Given the description of an element on the screen output the (x, y) to click on. 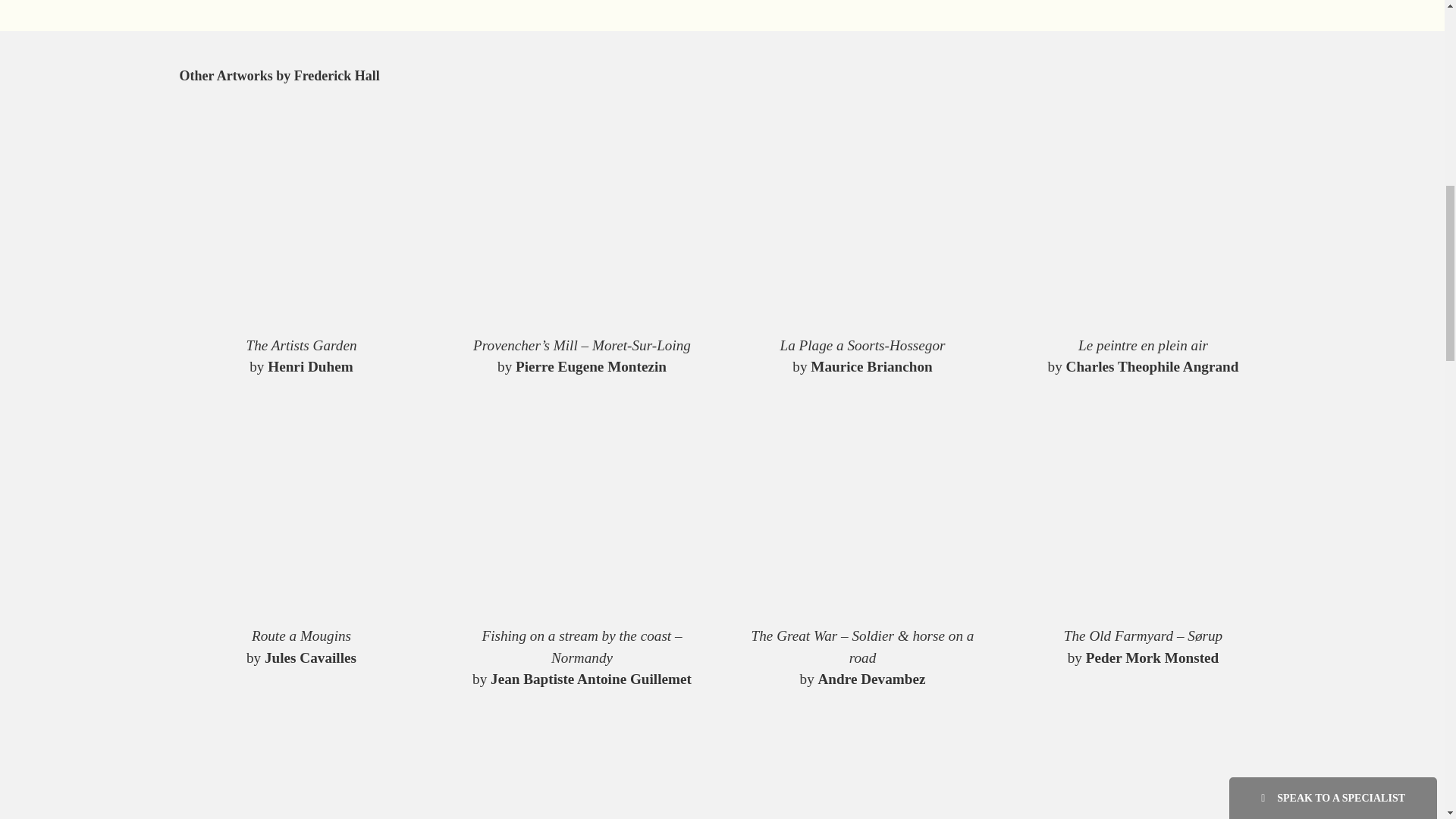
by Henri Duhem (301, 367)
The Artists Garden (301, 345)
La Plage a Soorts-Hossegor (861, 345)
by Pierre Eugene Montezin (581, 367)
by Charles Theophile Angrand (1142, 367)
by Maurice Brianchon (861, 367)
Le peintre en plein air (1142, 345)
